Given the description of an element on the screen output the (x, y) to click on. 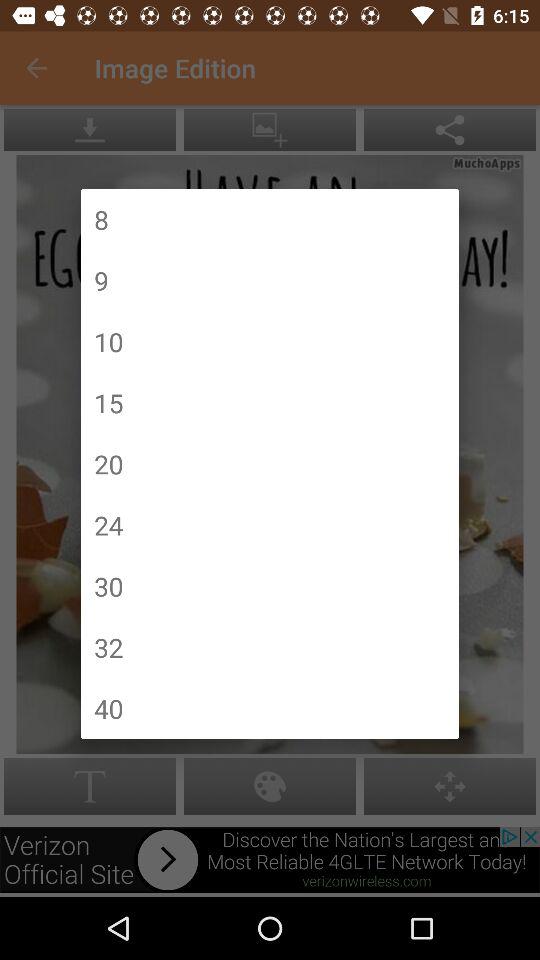
tap the item below the 9 icon (108, 341)
